Given the description of an element on the screen output the (x, y) to click on. 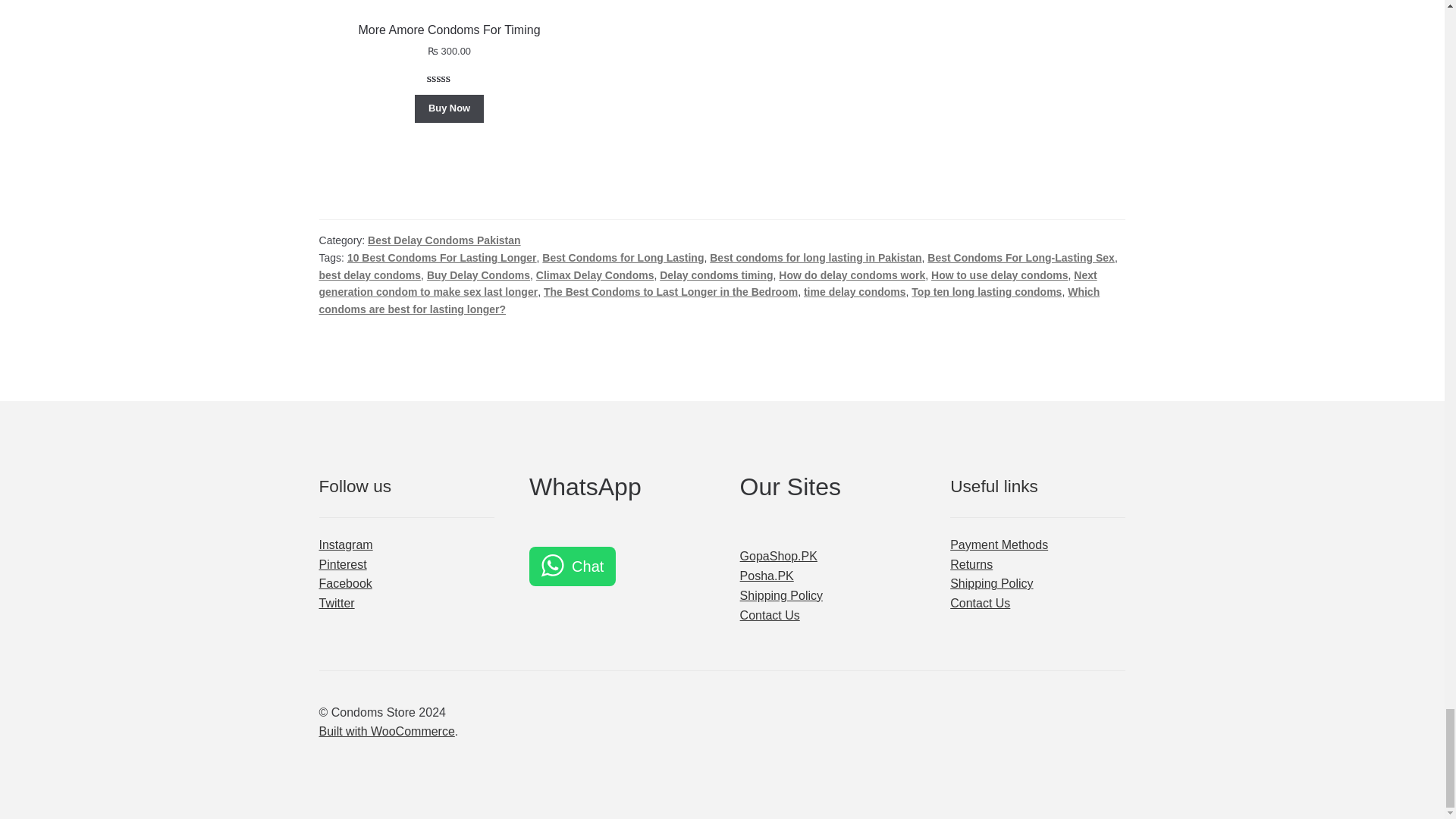
WooCommerce - The Best eCommerce Platform for WordPress (386, 730)
More Amore Condoms For Timing (449, 22)
Best Delay Condoms Pakistan (444, 240)
Buy Now (449, 108)
